Given the description of an element on the screen output the (x, y) to click on. 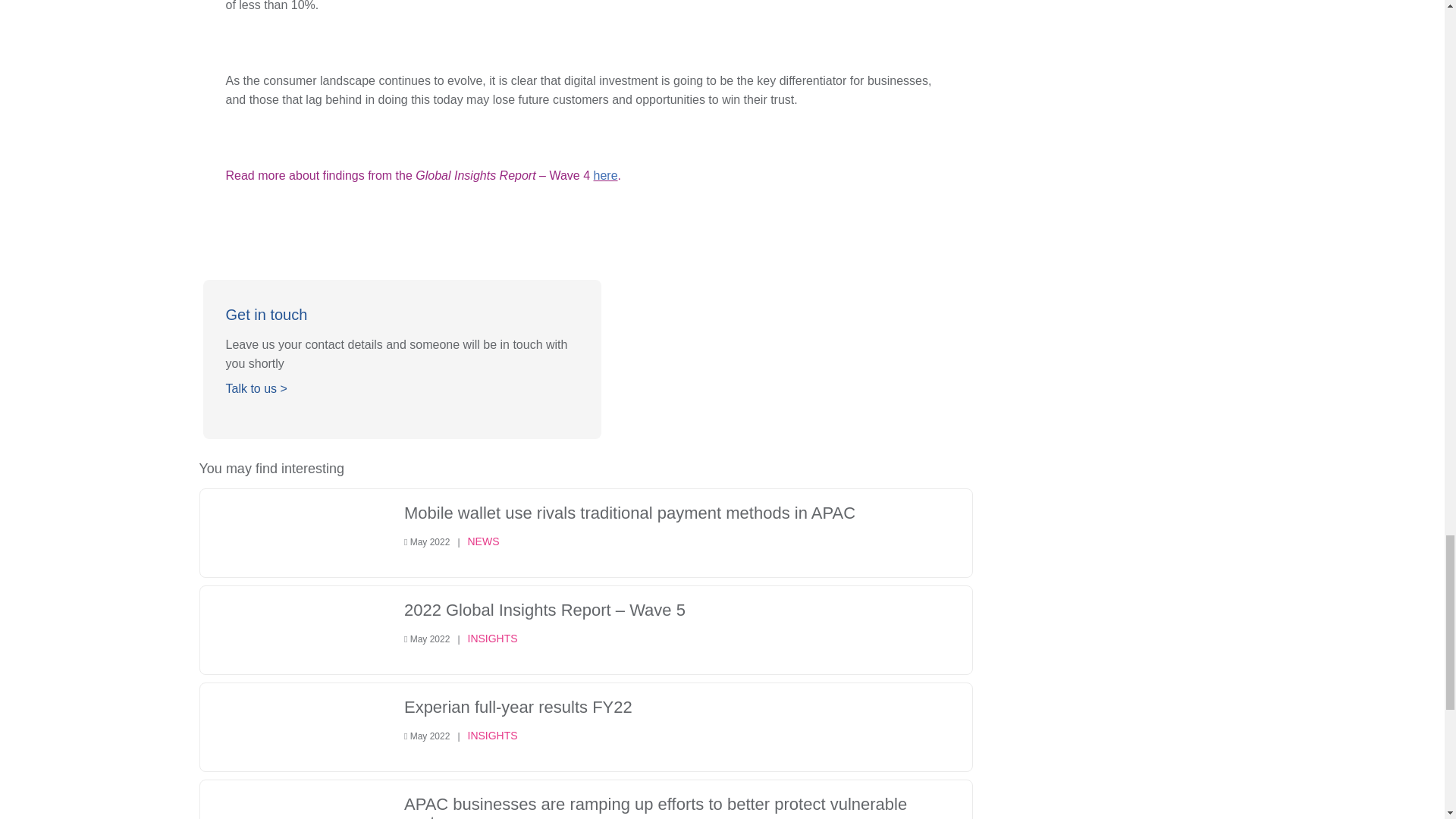
Read more about - Experian full-year results FY22 (517, 707)
See more posts in this category (491, 638)
See more posts in this category (491, 736)
See more posts in this category (483, 541)
